Given the description of an element on the screen output the (x, y) to click on. 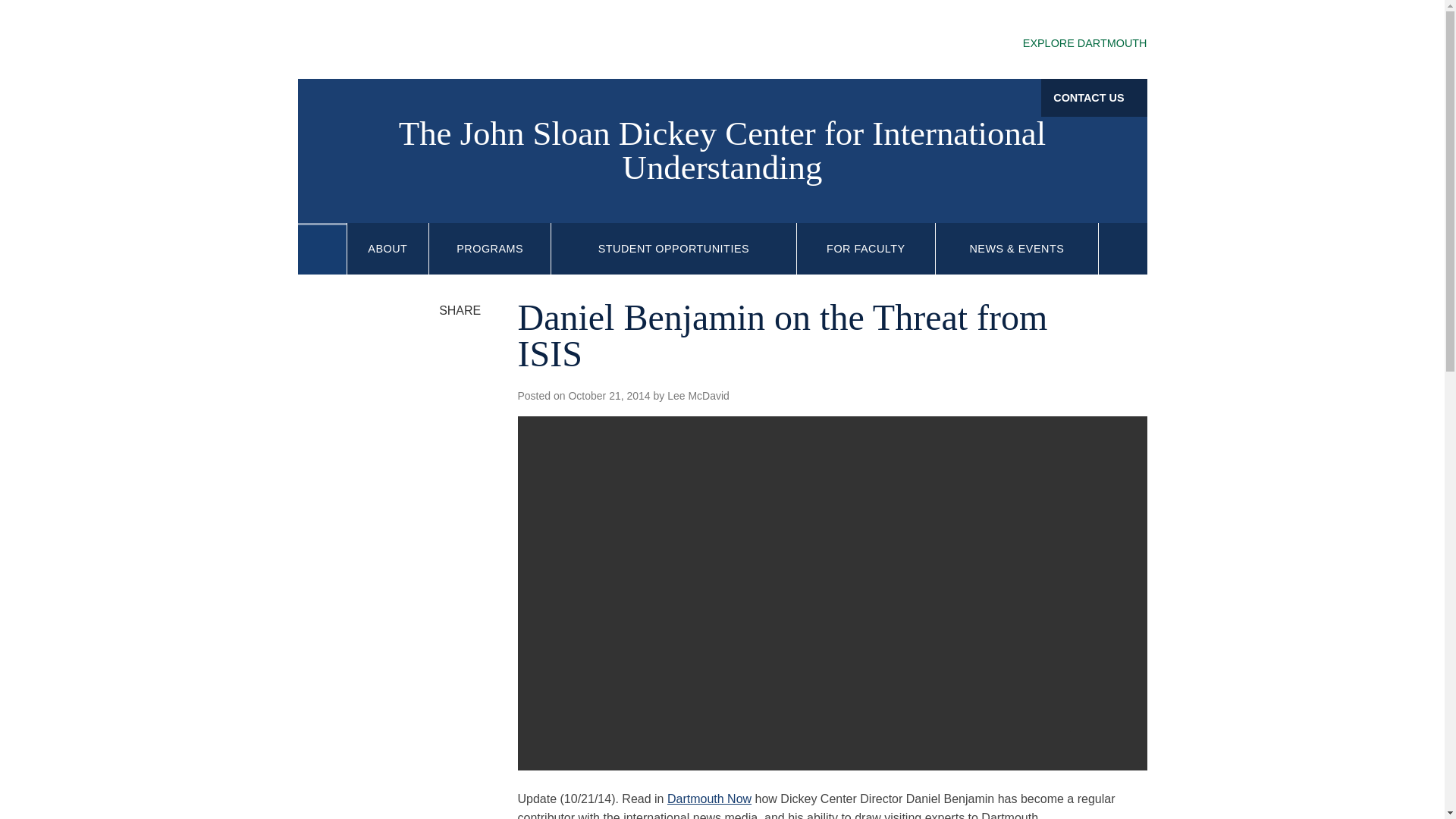
Dartmouth College (417, 41)
Home (321, 248)
EXPLORE DARTMOUTH (1071, 43)
